Given the description of an element on the screen output the (x, y) to click on. 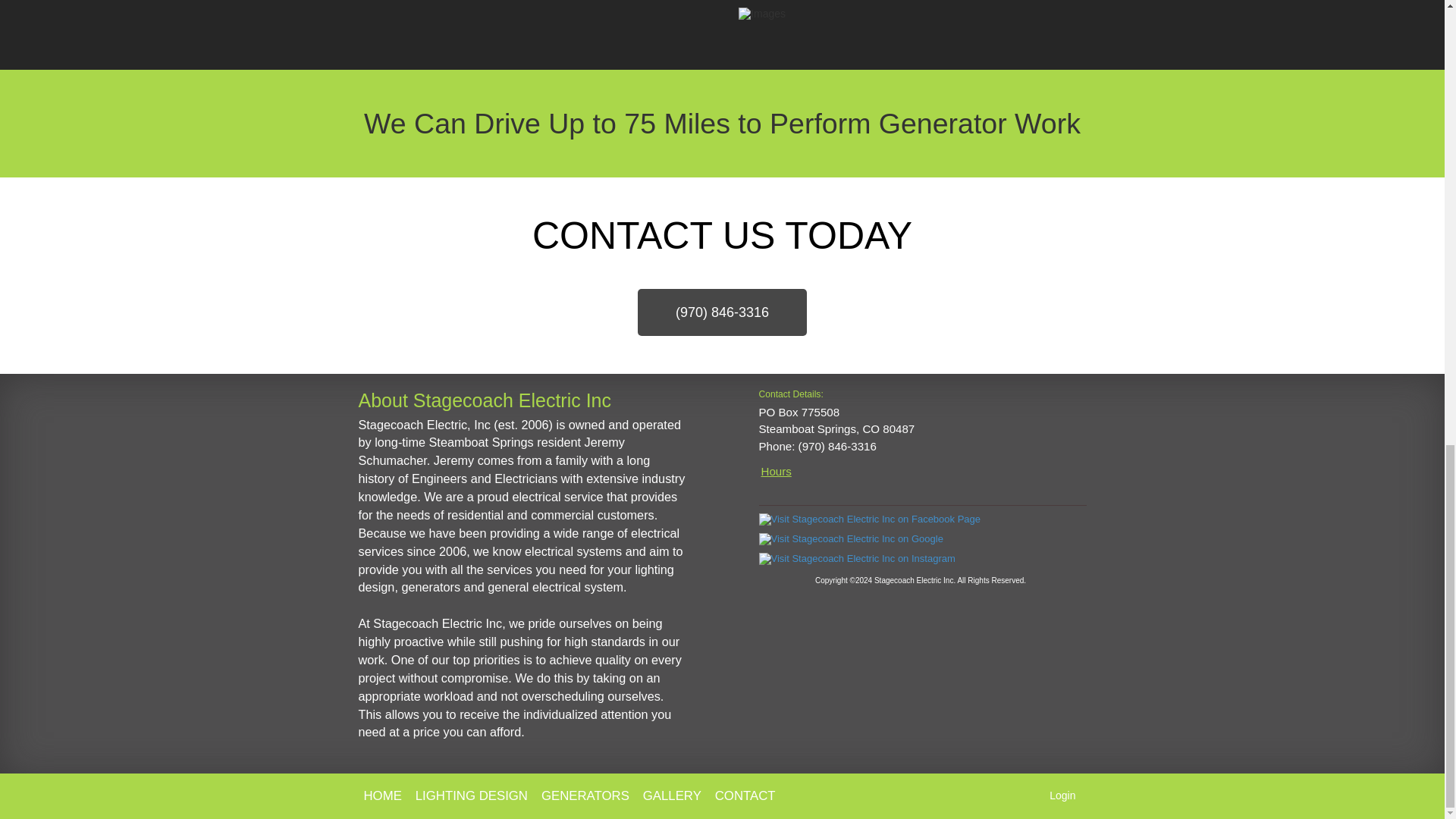
CONTACT (745, 795)
LIGHTING DESIGN (470, 795)
Hours (775, 470)
GENERATORS (584, 795)
GALLERY (672, 795)
